Given the description of an element on the screen output the (x, y) to click on. 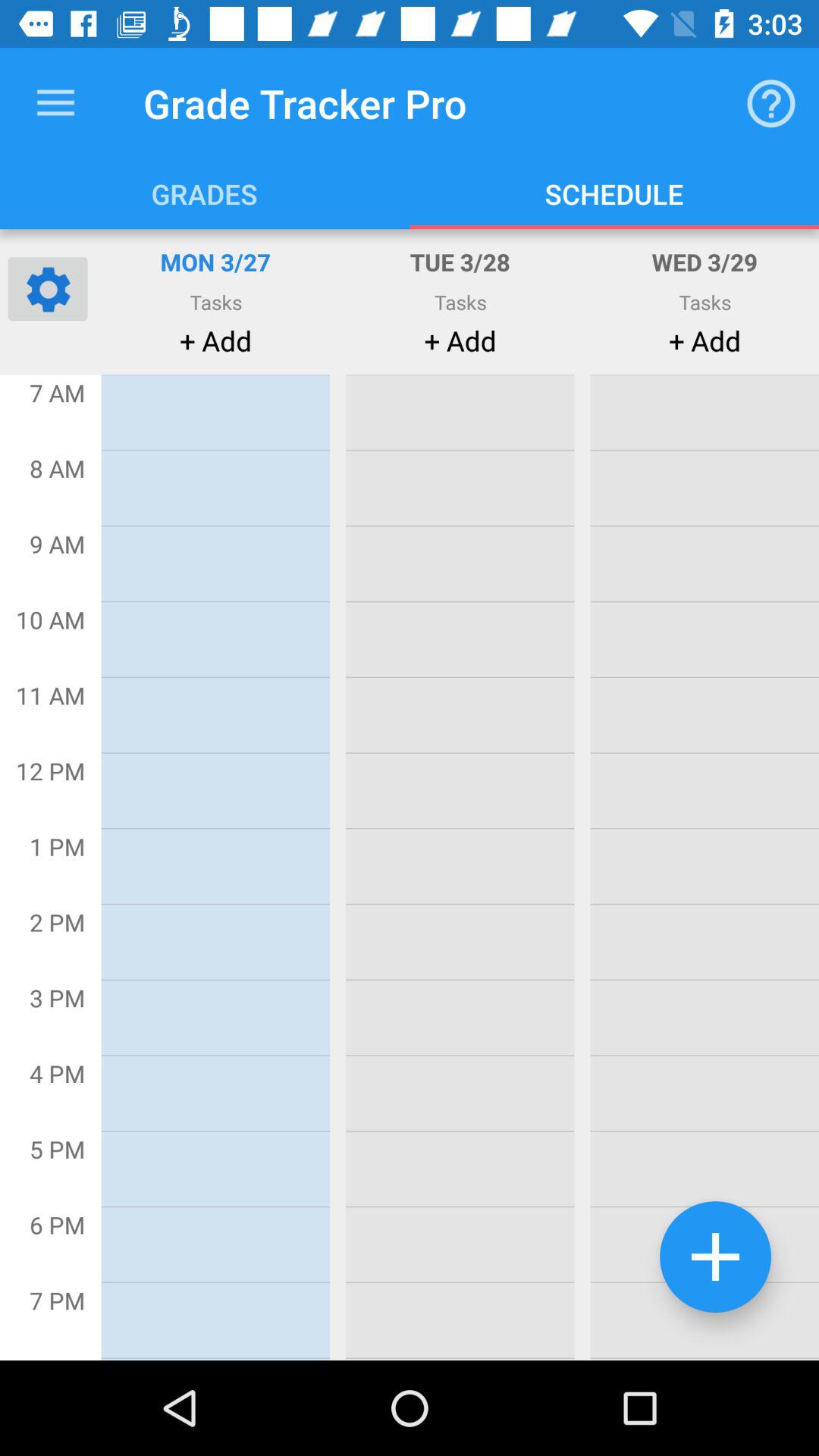
select the item to the right of grade tracker pro item (771, 103)
